Given the description of an element on the screen output the (x, y) to click on. 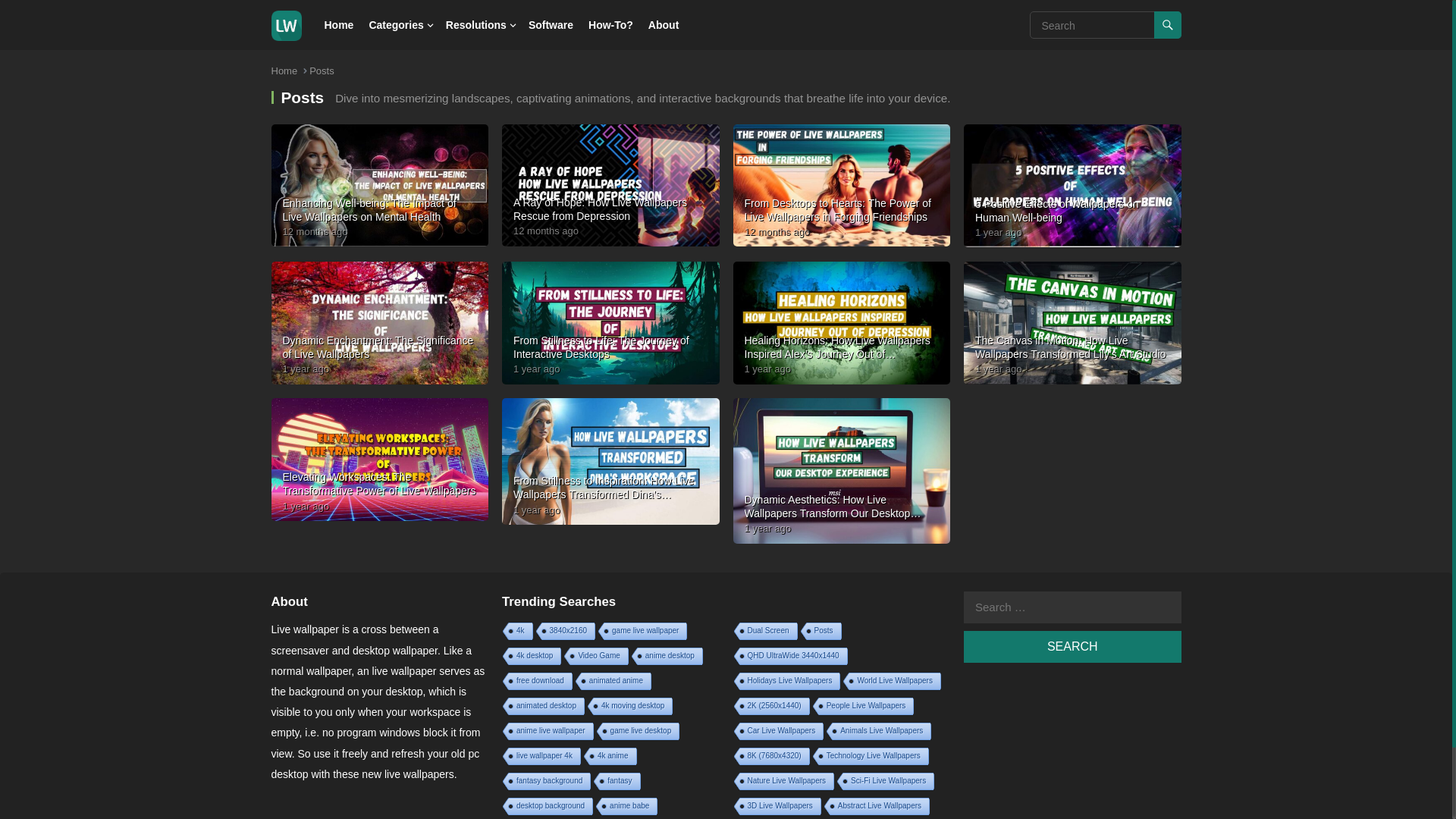
How-To? (610, 24)
Search (1071, 646)
Categories (396, 24)
Software (550, 24)
Search (1071, 646)
Resolutions (476, 24)
